Given the description of an element on the screen output the (x, y) to click on. 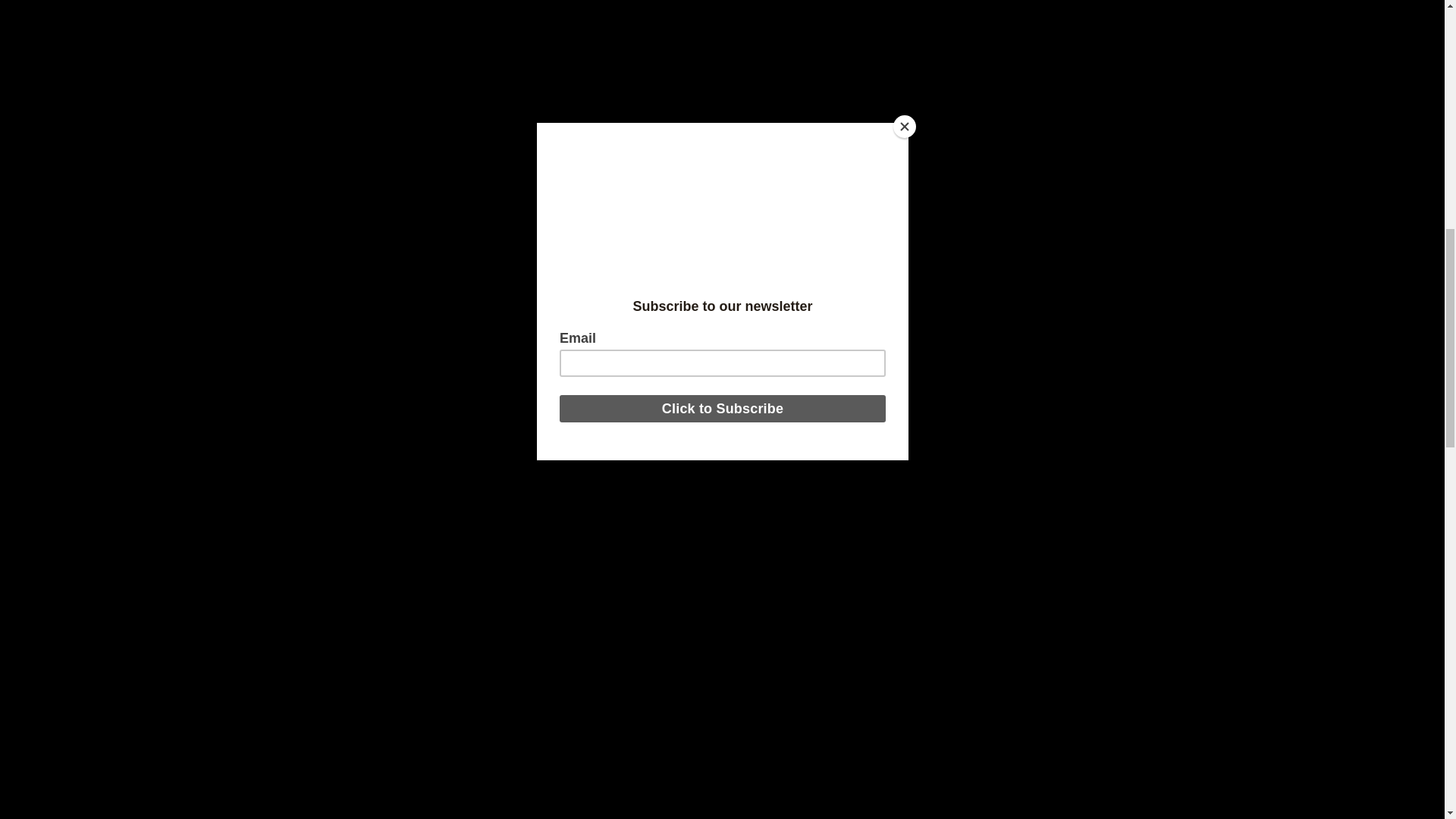
3rd party ad content (566, 28)
3rd party ad content (566, 306)
